Given the description of an element on the screen output the (x, y) to click on. 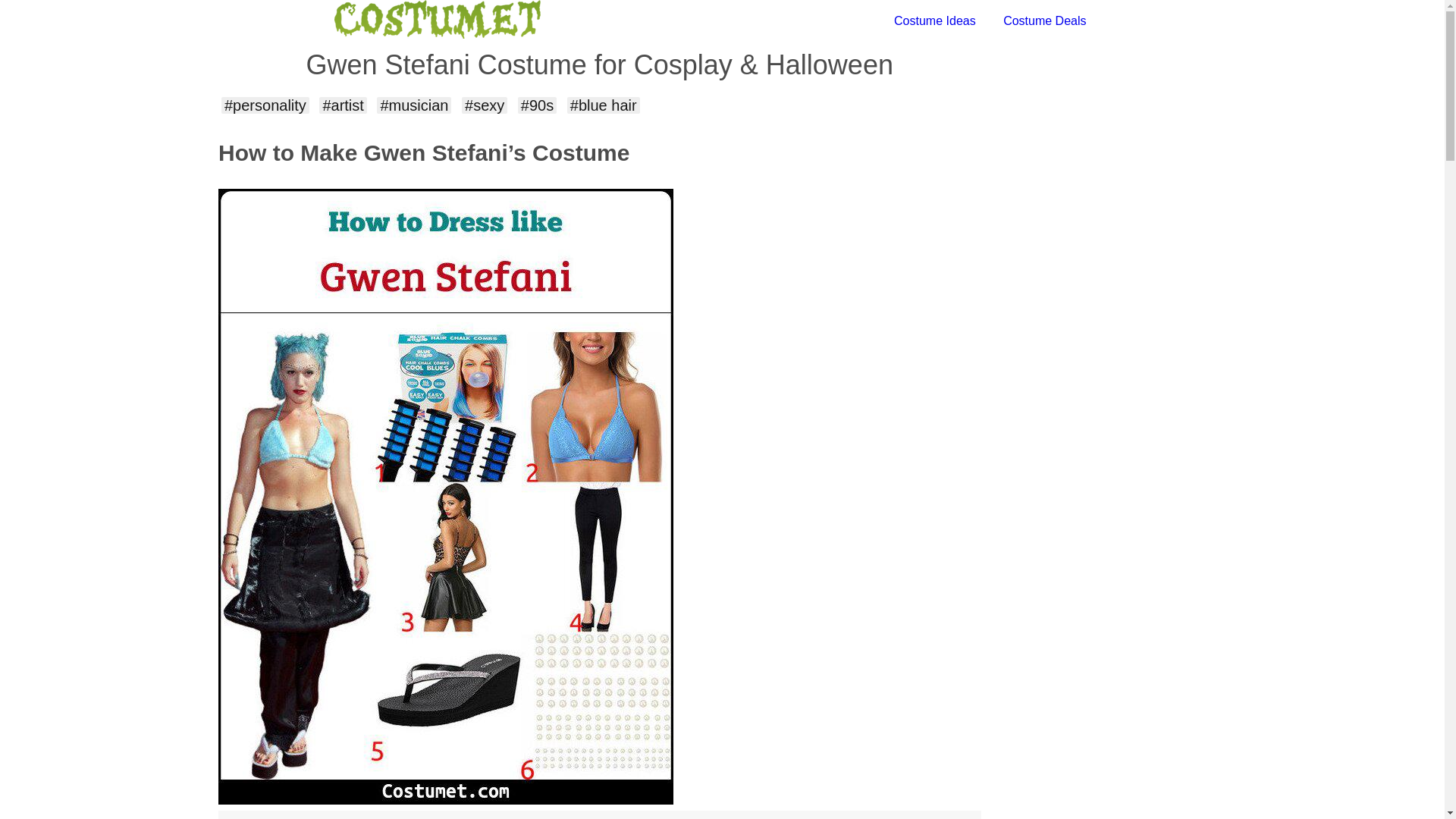
Costumet (527, 20)
Costume Deals (1044, 20)
Costume Ideas (934, 20)
Costume Ideas (934, 20)
Costume Deals (1044, 20)
